Given the description of an element on the screen output the (x, y) to click on. 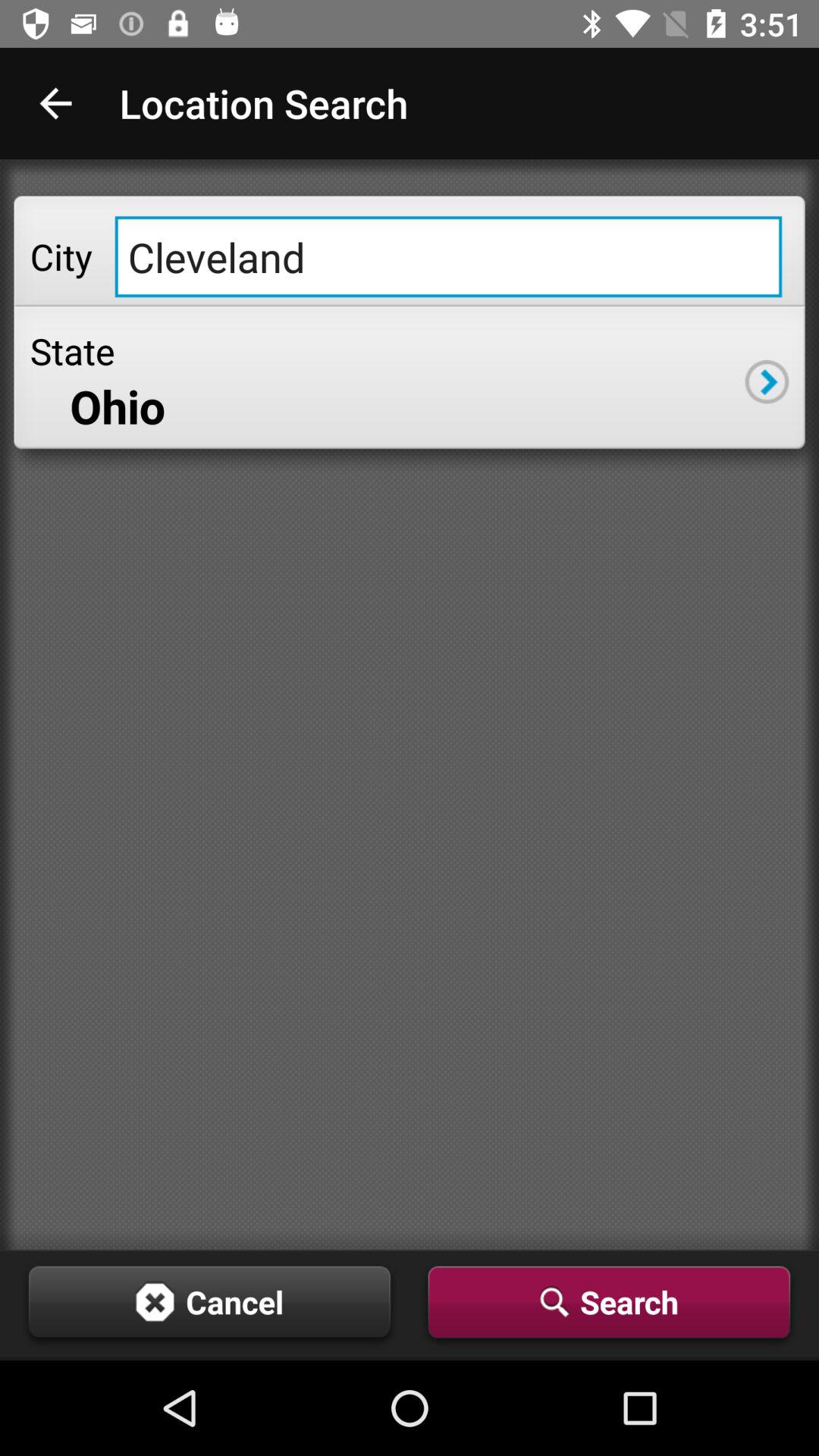
launch the item above the city (55, 103)
